Given the description of an element on the screen output the (x, y) to click on. 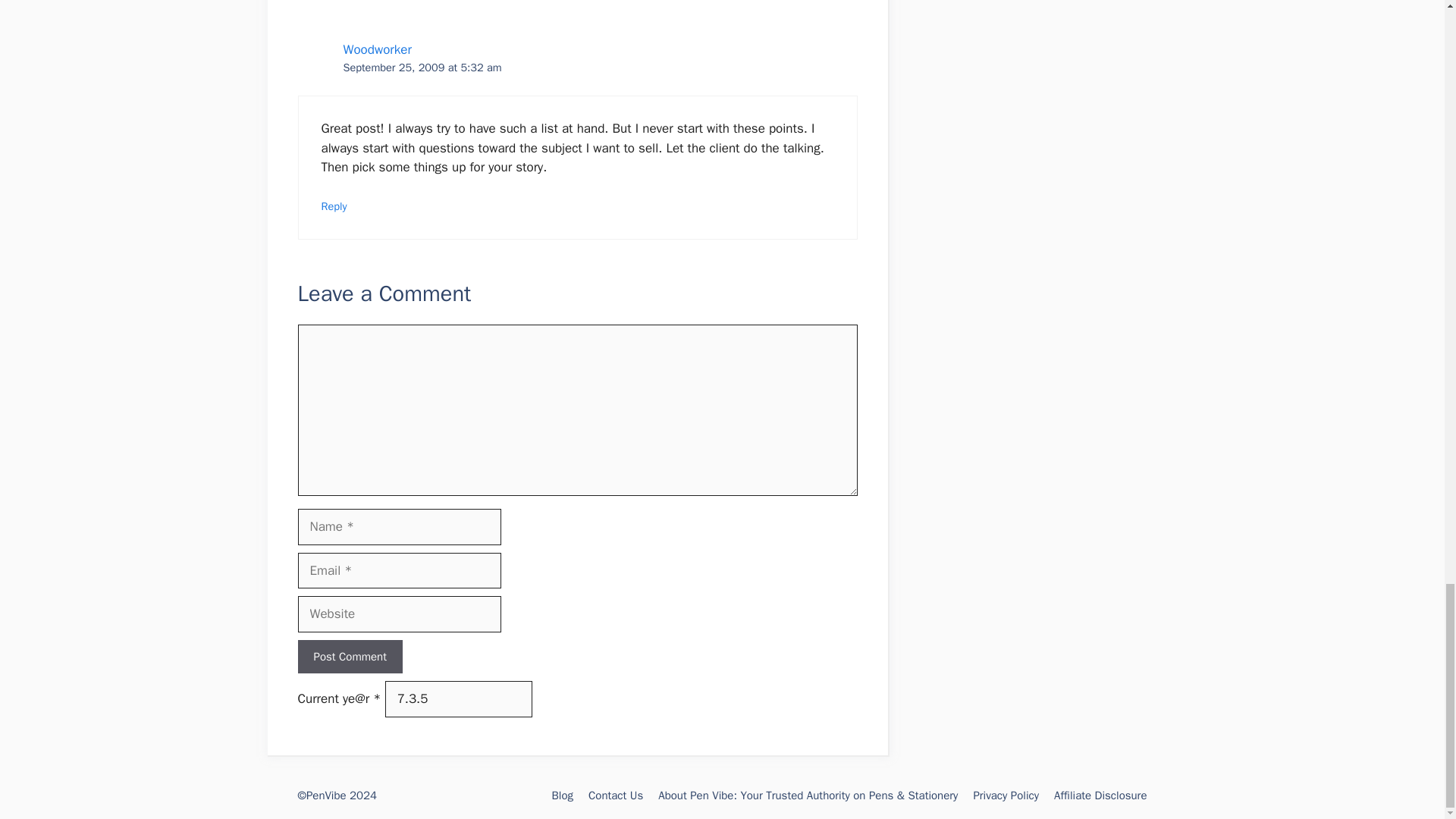
Post Comment (349, 656)
Post Comment (349, 656)
7.3.5 (458, 698)
Woodworker (376, 49)
Reply (334, 205)
September 25, 2009 at 5:32 am (421, 67)
